Given the description of an element on the screen output the (x, y) to click on. 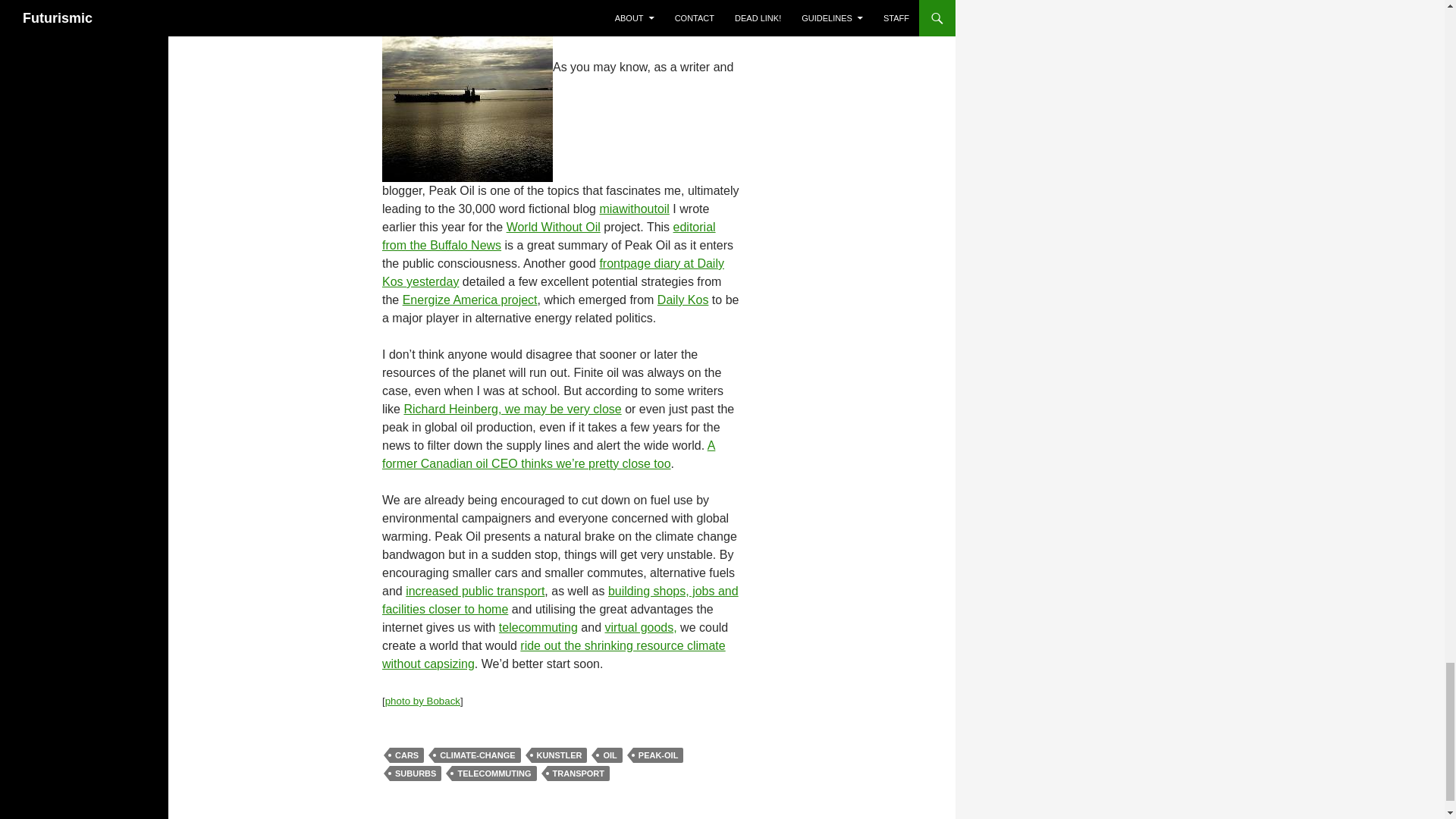
On Peak Oil and how it will change the world (548, 235)
shameless plug but free online fiction (633, 208)
A fascinating experiment into user created metafiction (552, 226)
Those progressives, always looking for positive change (683, 299)
Peak Everything: an introduction (512, 408)
'I Never Met Jack Kerouac' by devilstower (552, 272)
Are tankers going to be lonely in future? (467, 66)
it needs to be easier to travel together (475, 590)
even if he doesn't believe in global warming (547, 454)
